Given the description of an element on the screen output the (x, y) to click on. 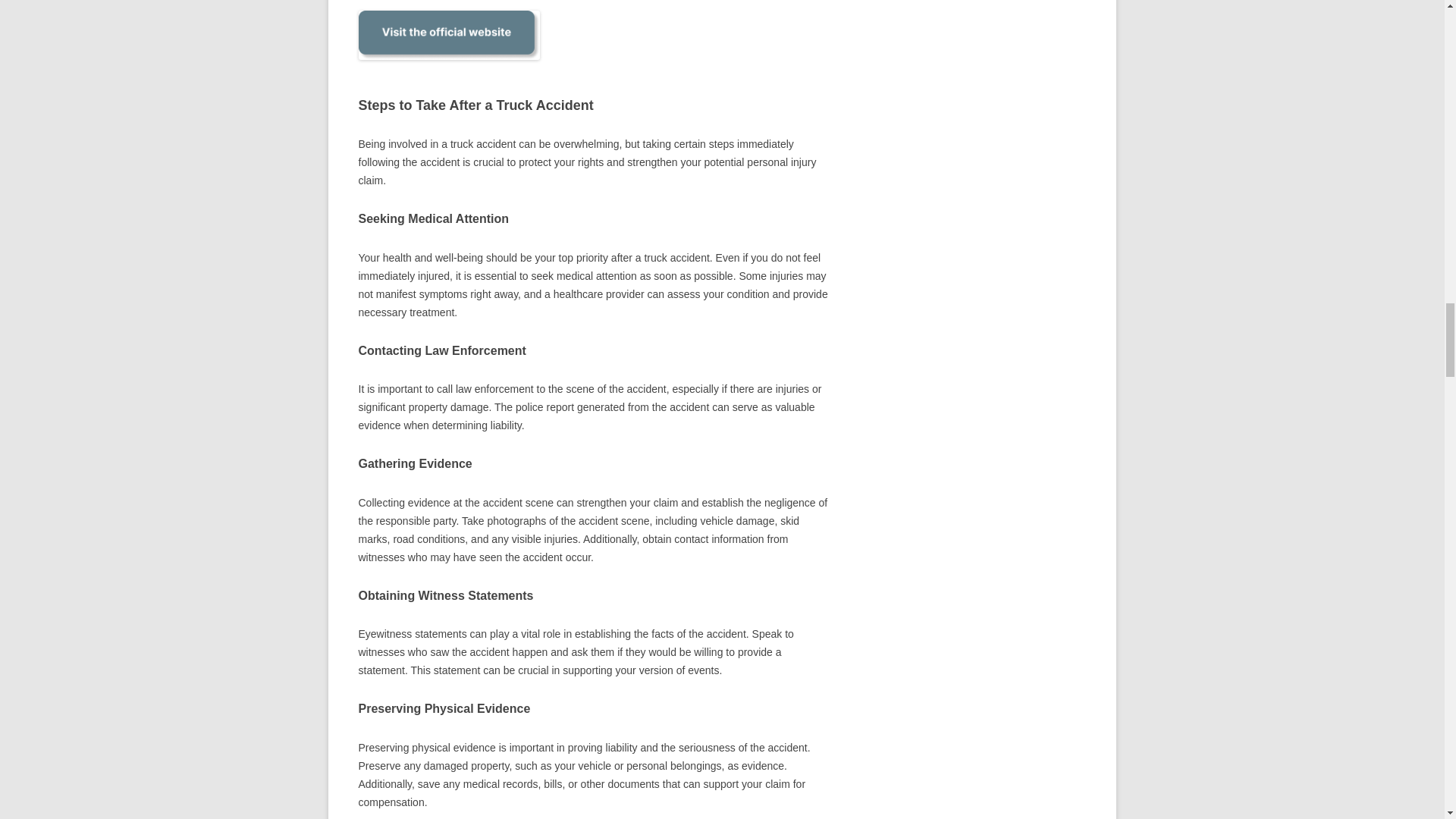
Discover more about the Truck Accident Lawyer Maeser Utah. (448, 67)
Discover more about the Truck Accident Lawyer Maeser Utah. (448, 34)
